Given the description of an element on the screen output the (x, y) to click on. 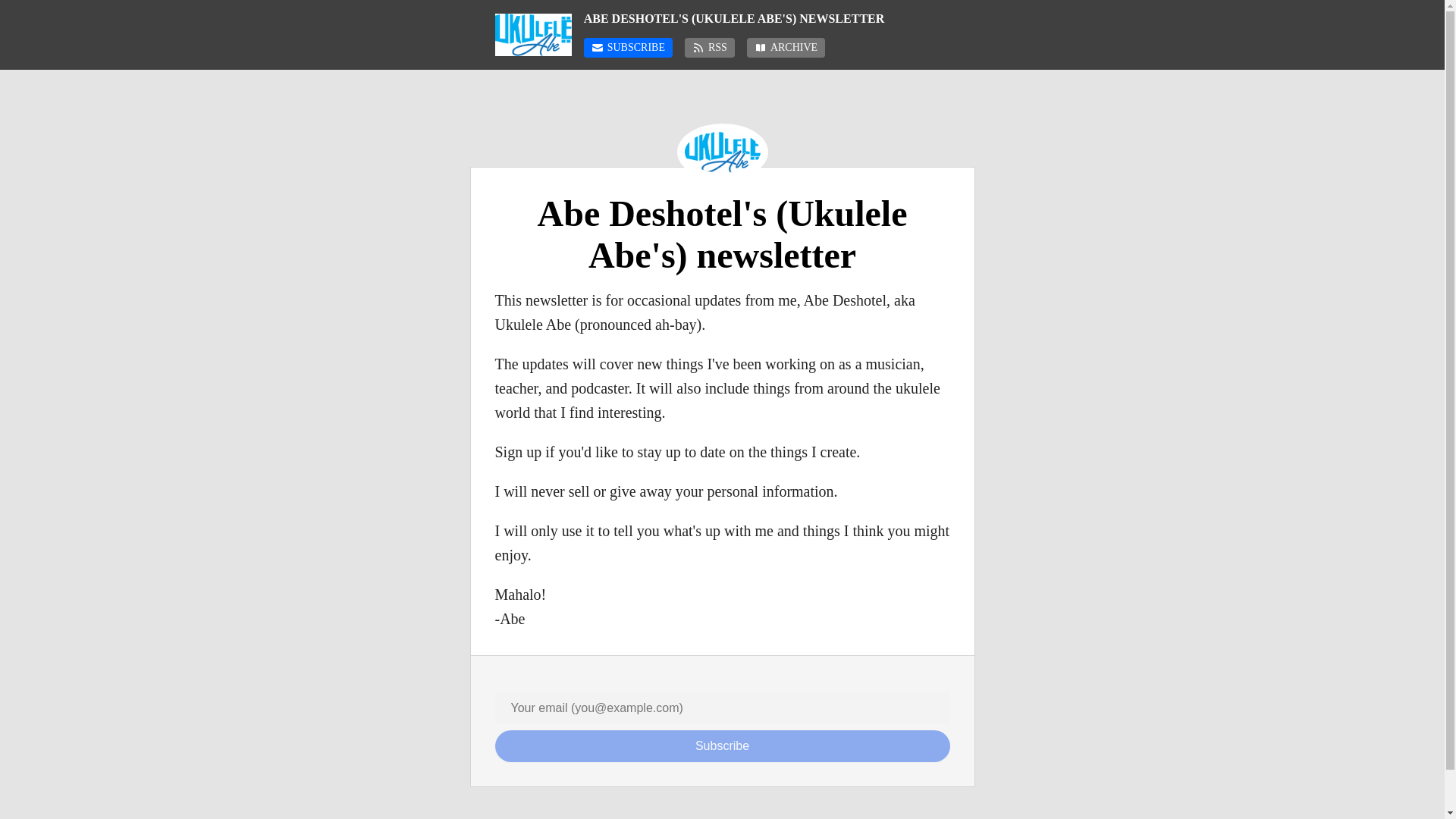
RSS (709, 47)
Subscribe (722, 746)
SUBSCRIBE (627, 47)
ARCHIVE (785, 47)
